Given the description of an element on the screen output the (x, y) to click on. 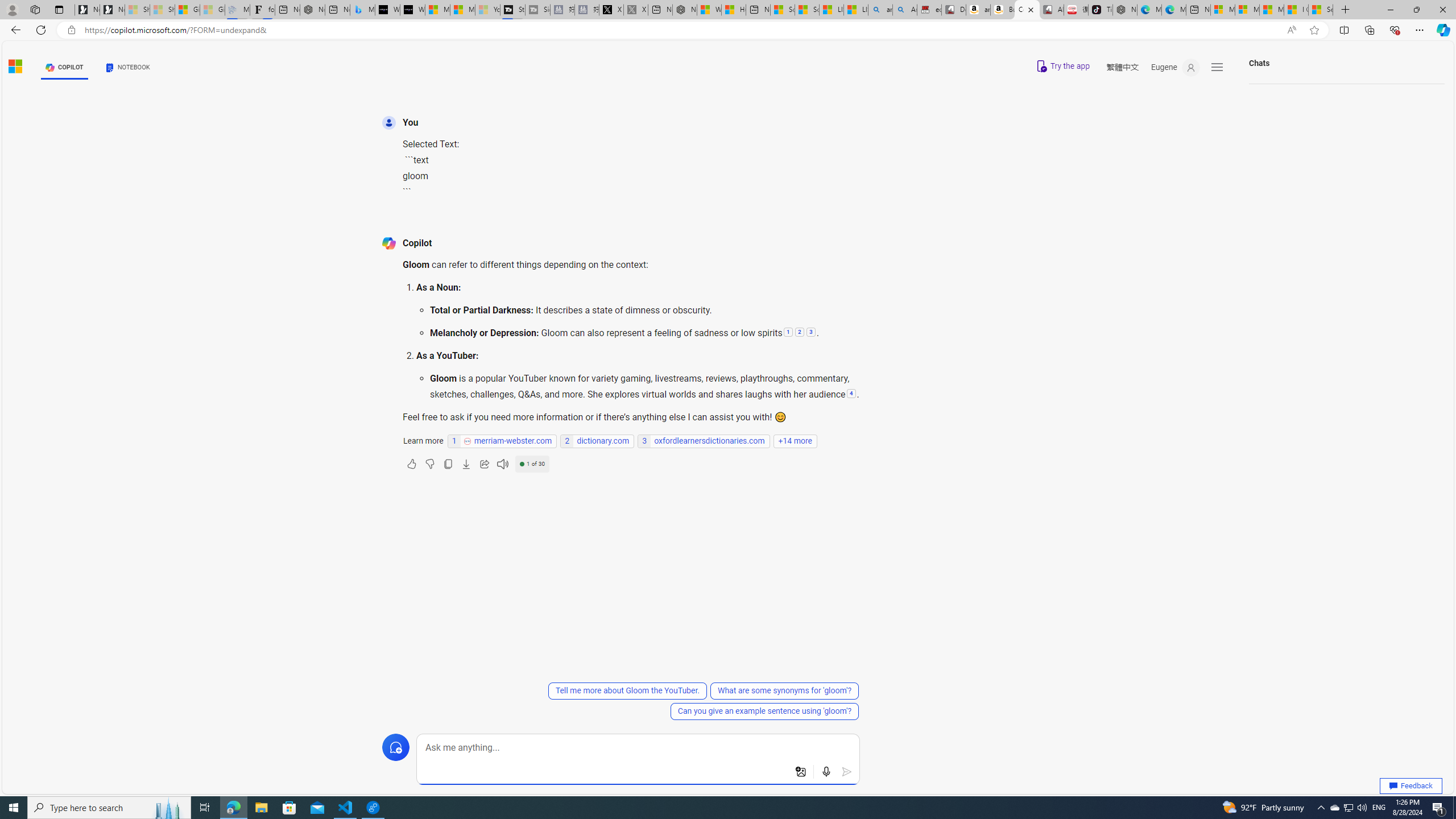
Submit (847, 771)
+14 more (794, 440)
Like (411, 464)
Copy (448, 464)
Feedback (1411, 785)
